Given the description of an element on the screen output the (x, y) to click on. 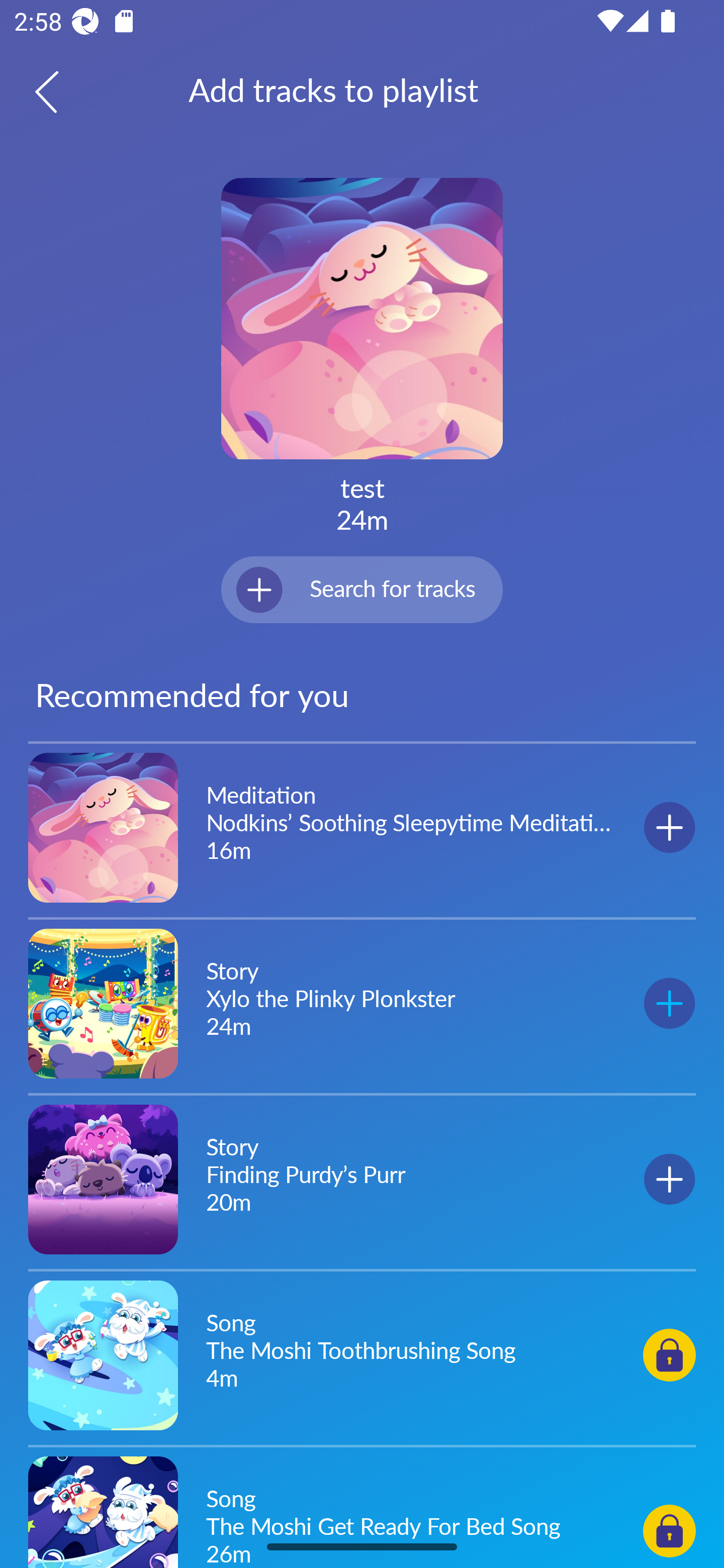
icon Search for tracks (361, 589)
Story Xylo the Plinky Plonkster 24m (361, 1003)
Story Finding Purdy’s Purr 20m (361, 1179)
Song The Moshi Toothbrushing Song 4m (361, 1354)
Song The Moshi Get Ready For Bed Song 26m (361, 1509)
